Given the description of an element on the screen output the (x, y) to click on. 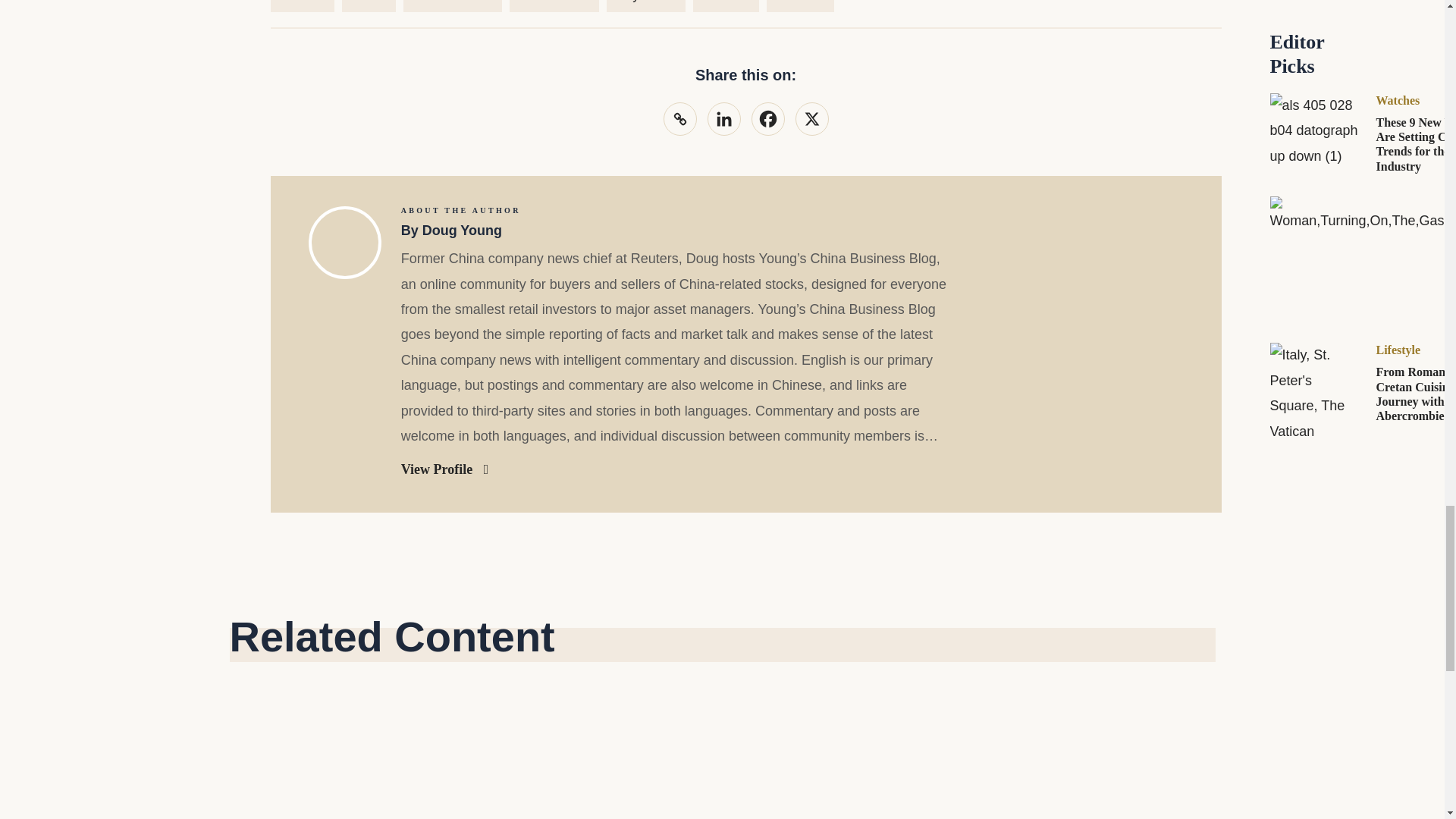
WeChat (800, 5)
e-commerce (452, 5)
Alibaba (301, 5)
Facebook (767, 118)
China (369, 5)
Tencent (725, 5)
Copy Link (678, 118)
payments (646, 5)
Linkedin (722, 118)
Global Tech (554, 5)
